Given the description of an element on the screen output the (x, y) to click on. 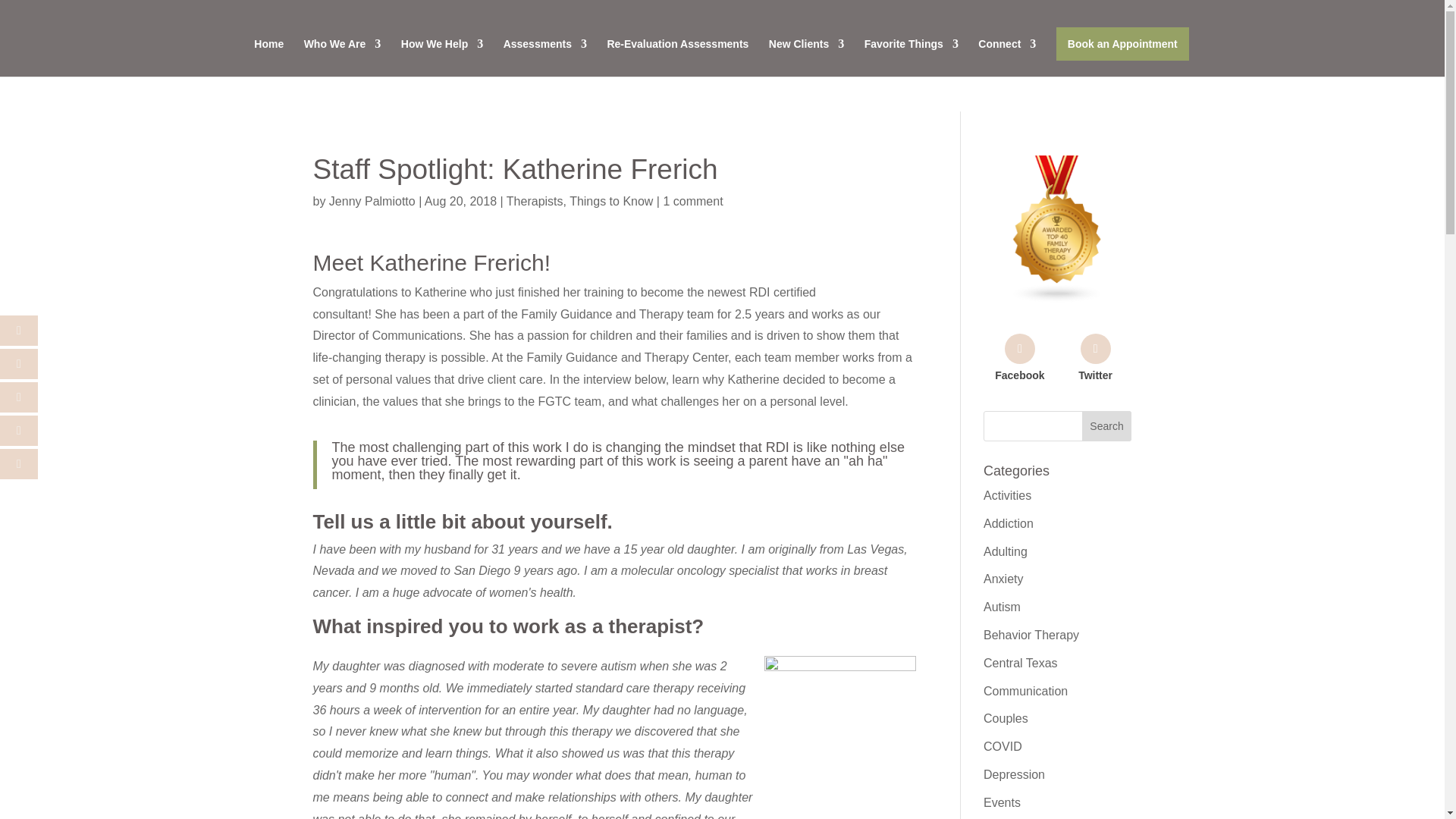
Family Therapy Blogs (1057, 298)
Who We Are (342, 57)
How We Help (442, 57)
Assessments (544, 57)
Search (1106, 426)
Posts by Jenny Palmiotto (371, 201)
